Given the description of an element on the screen output the (x, y) to click on. 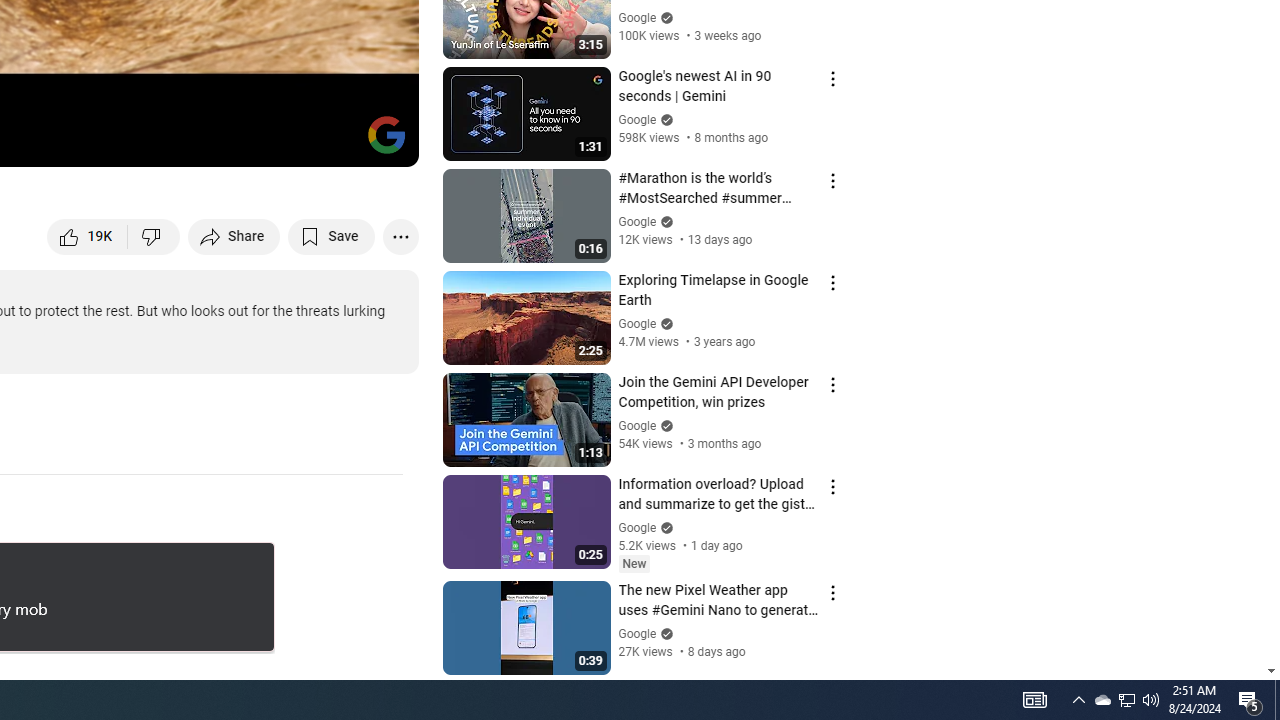
Theater mode (t) (333, 142)
Channel watermark (386, 134)
Autoplay is on (141, 142)
Miniplayer (i) (286, 142)
like this video along with 19,267 other people (88, 236)
Share (234, 236)
Subtitles/closed captions unavailable (190, 142)
